Given the description of an element on the screen output the (x, y) to click on. 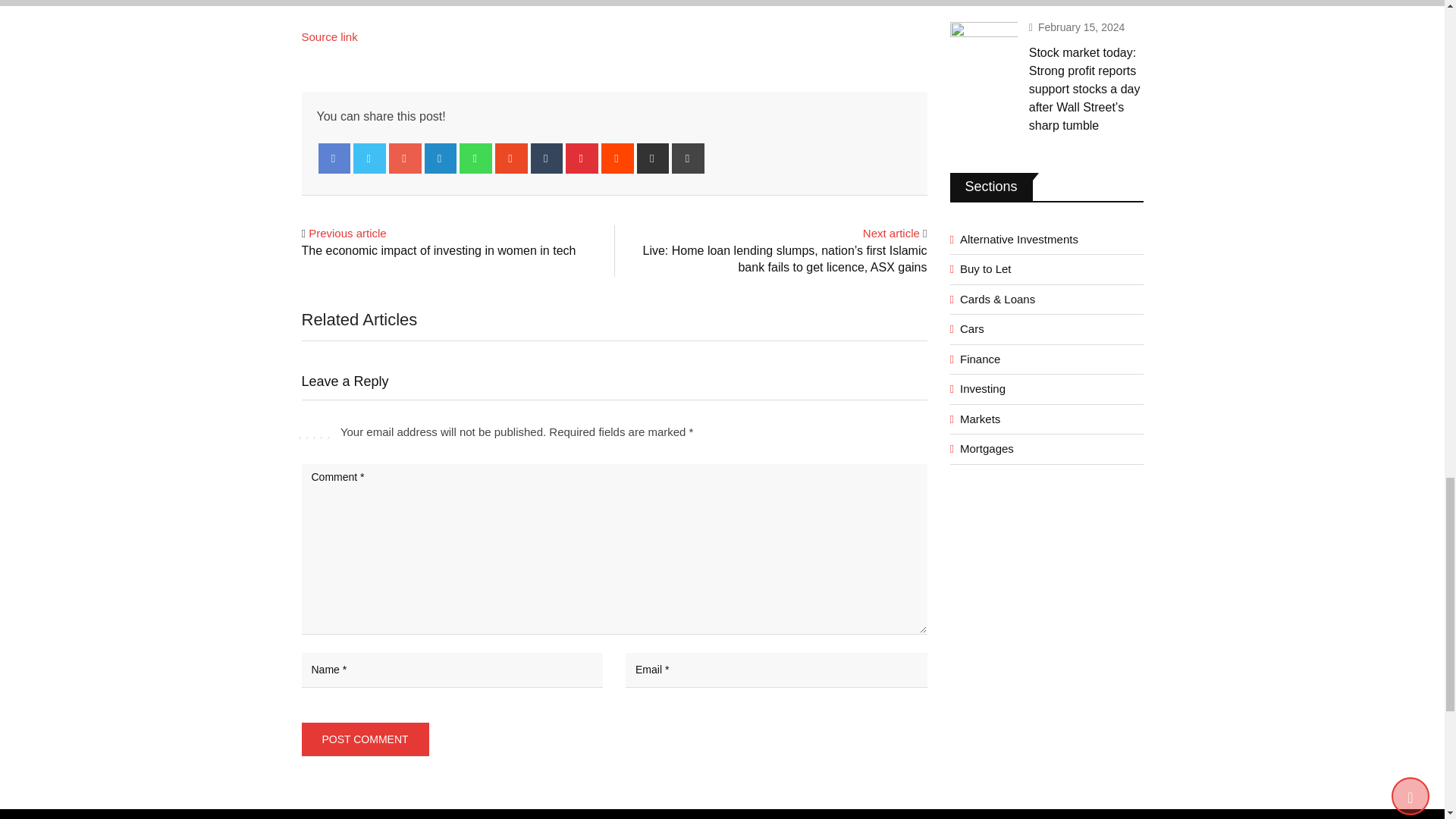
Post Comment (365, 738)
Source link (329, 36)
